Given the description of an element on the screen output the (x, y) to click on. 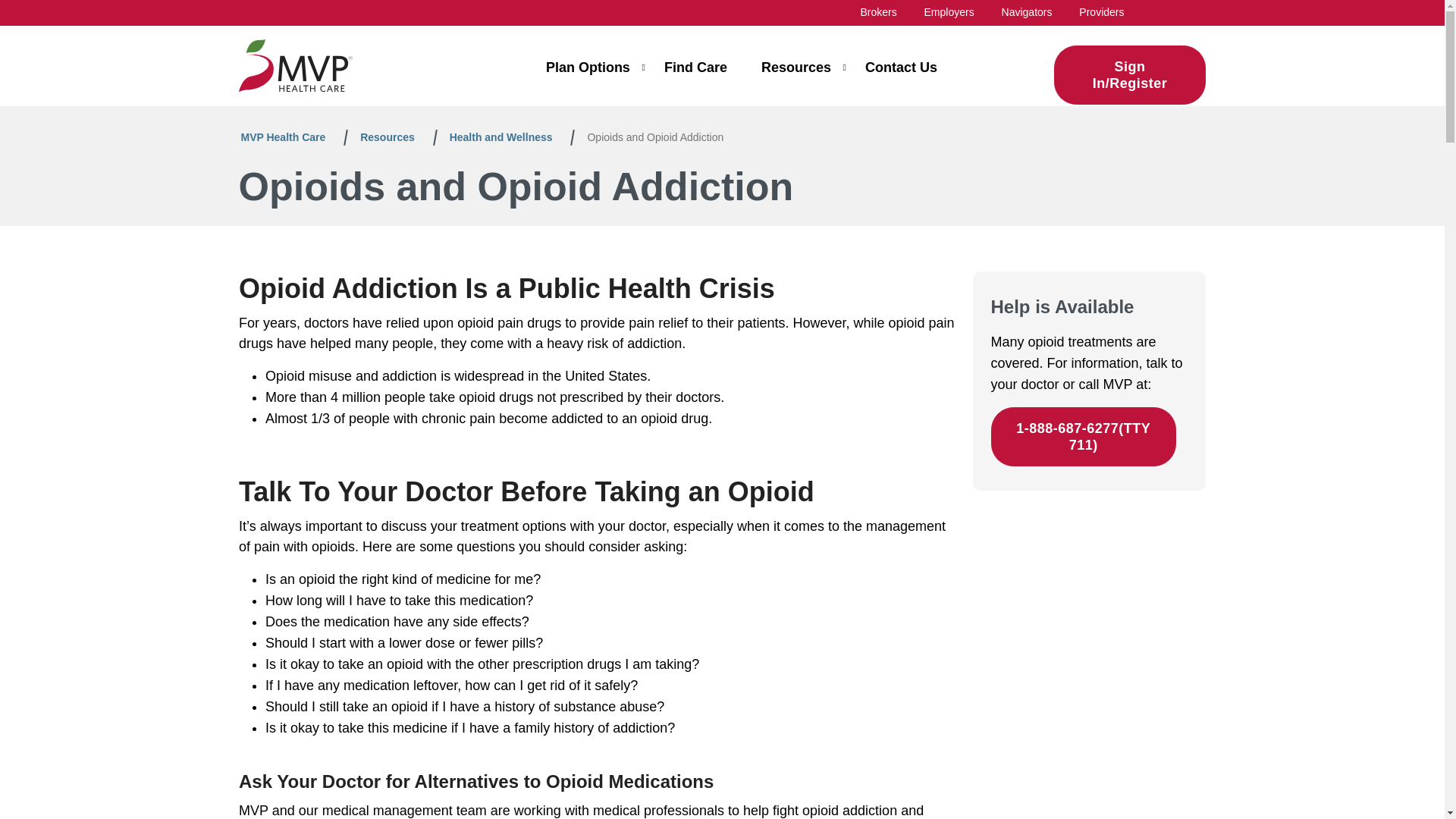
Navigators (1026, 11)
Logo (295, 65)
Employers (949, 11)
Find Care (694, 74)
Navigators (1026, 11)
Contact Us (900, 74)
Brokers (878, 11)
Providers (1101, 11)
